Given the description of an element on the screen output the (x, y) to click on. 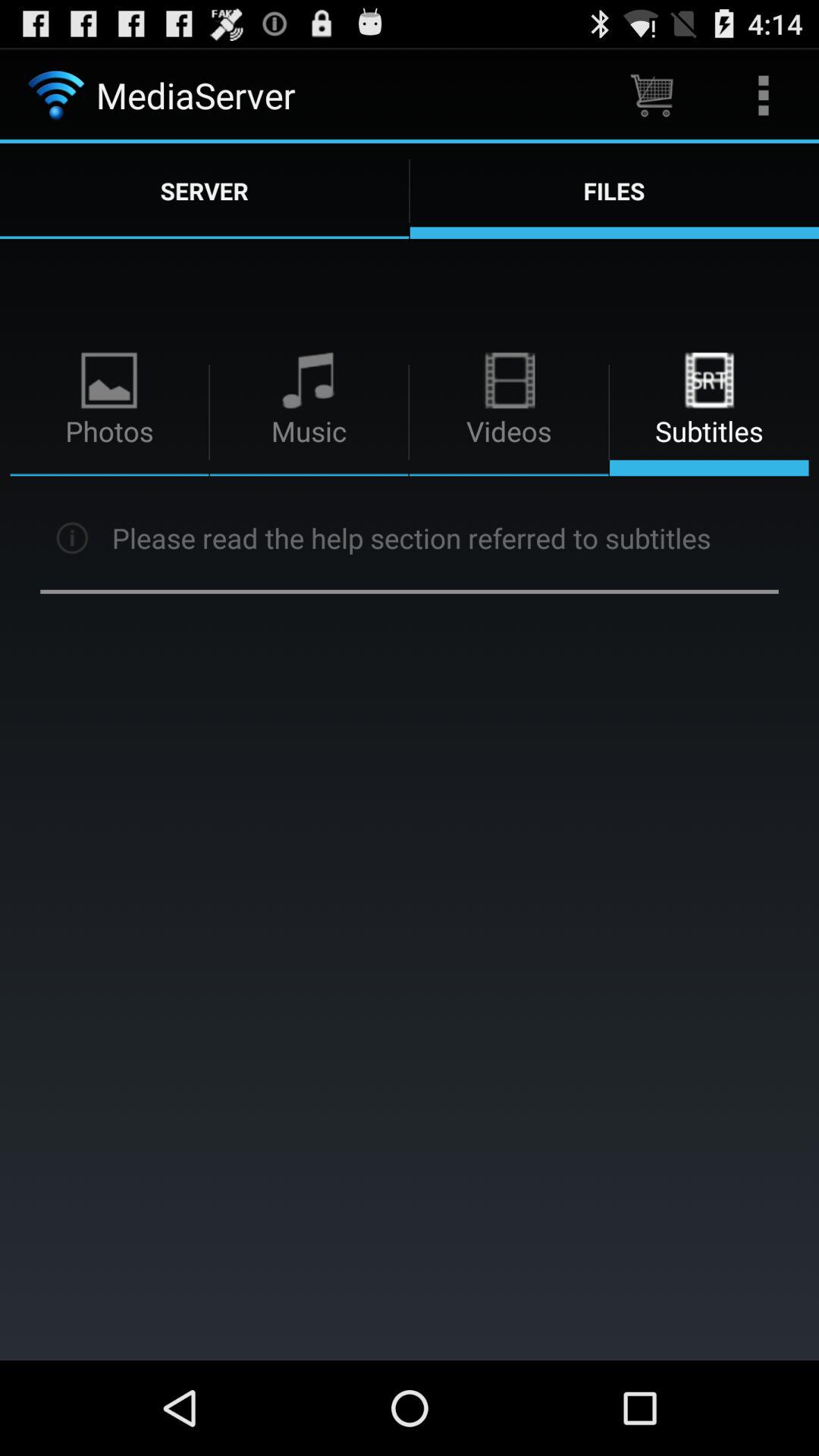
tap icon next to the mediaserver item (651, 95)
